Given the description of an element on the screen output the (x, y) to click on. 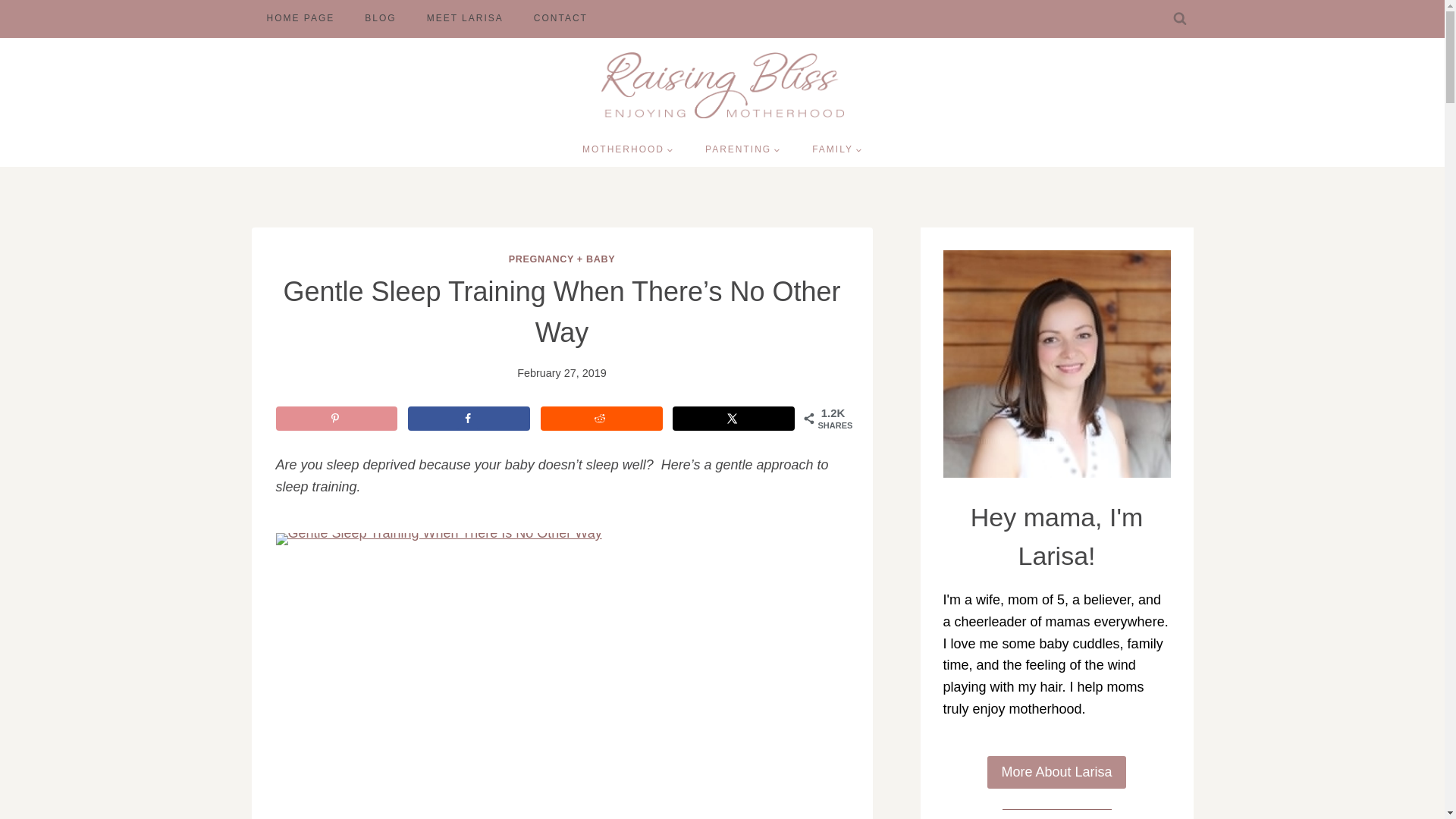
Share on Facebook (468, 418)
MOTHERHOOD (627, 149)
Share on X (733, 418)
FAMILY (836, 149)
CONTACT (560, 18)
MEET LARISA (465, 18)
BLOG (379, 18)
HOME PAGE (300, 18)
PARENTING (742, 149)
Save to Pinterest (336, 418)
Share on Reddit (601, 418)
